Given the description of an element on the screen output the (x, y) to click on. 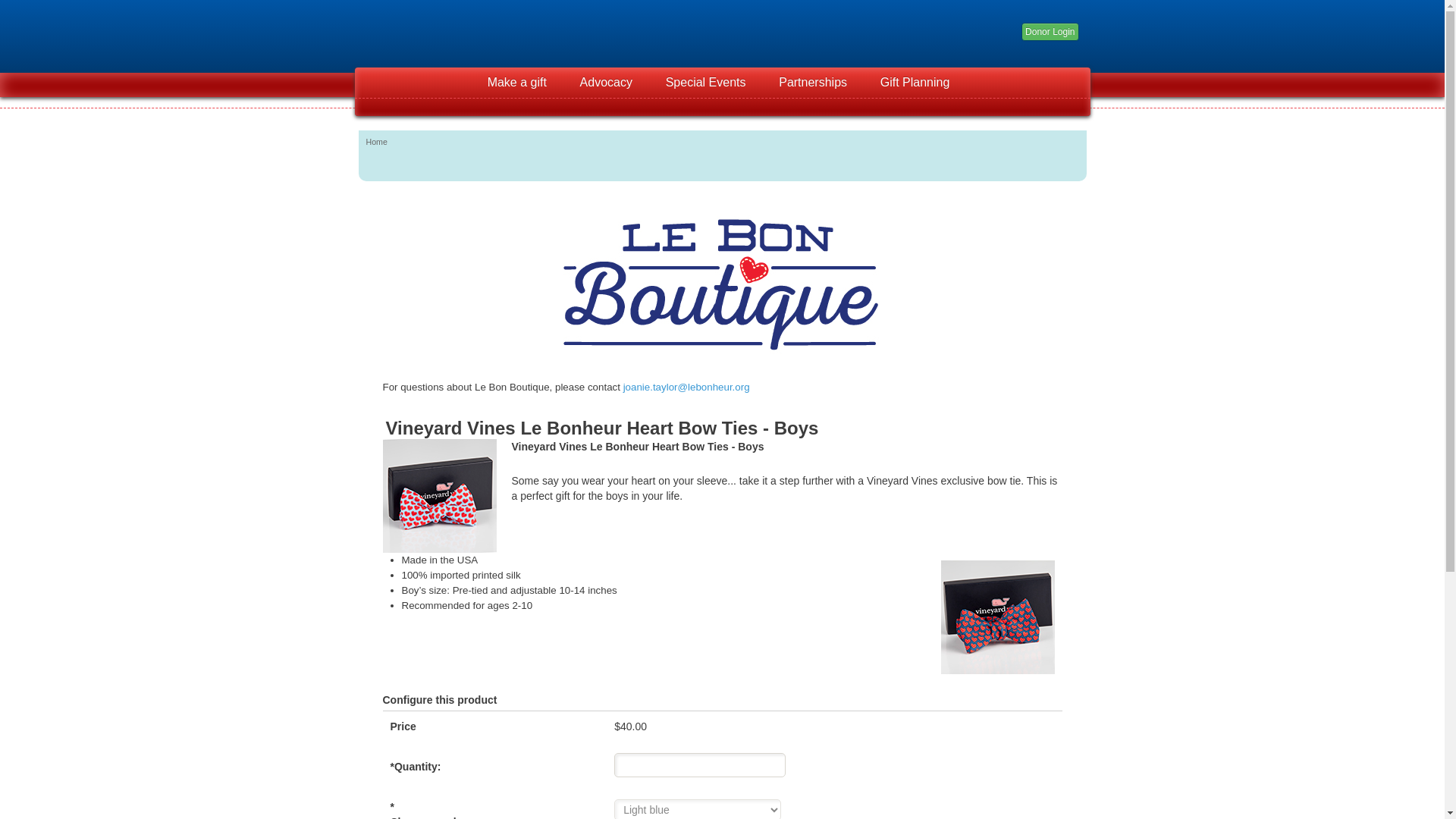
Home (376, 141)
Make a gift (516, 82)
Donor Login (1050, 31)
Advocacy (605, 82)
Special Events (705, 82)
Le Bonheur Healthcare (448, 32)
Gift Planning (914, 82)
Partnerships (811, 82)
